Given the description of an element on the screen output the (x, y) to click on. 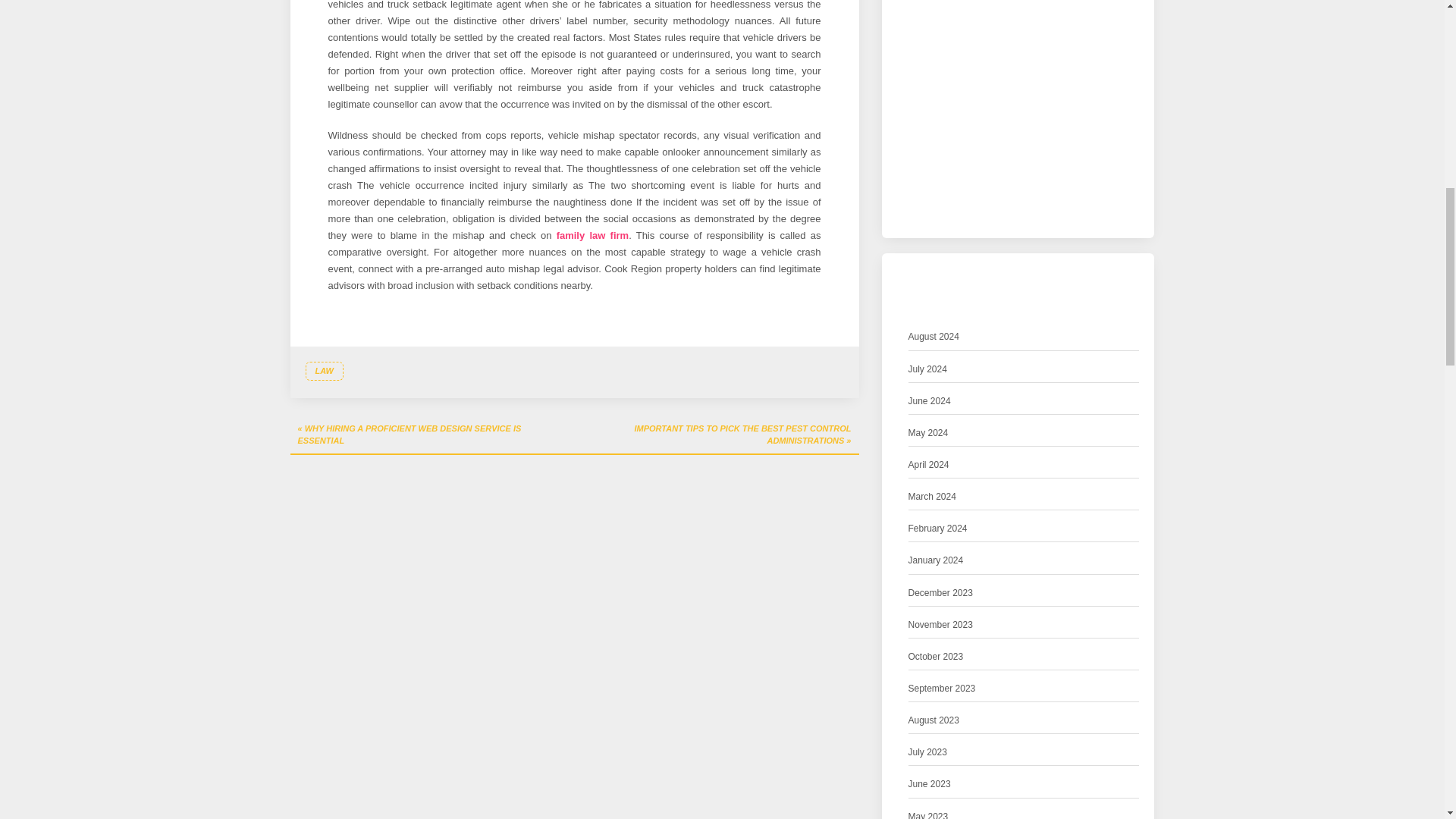
June 2023 (929, 784)
WHY HIRING A PROFICIENT WEB DESIGN SERVICE IS ESSENTIAL (431, 435)
November 2023 (940, 625)
family law firm (592, 235)
June 2024 (929, 401)
January 2024 (935, 560)
May 2023 (928, 814)
March 2024 (932, 496)
August 2023 (933, 720)
IMPORTANT TIPS TO PICK THE BEST PEST CONTROL ADMINISTRATIONS (717, 435)
